Given the description of an element on the screen output the (x, y) to click on. 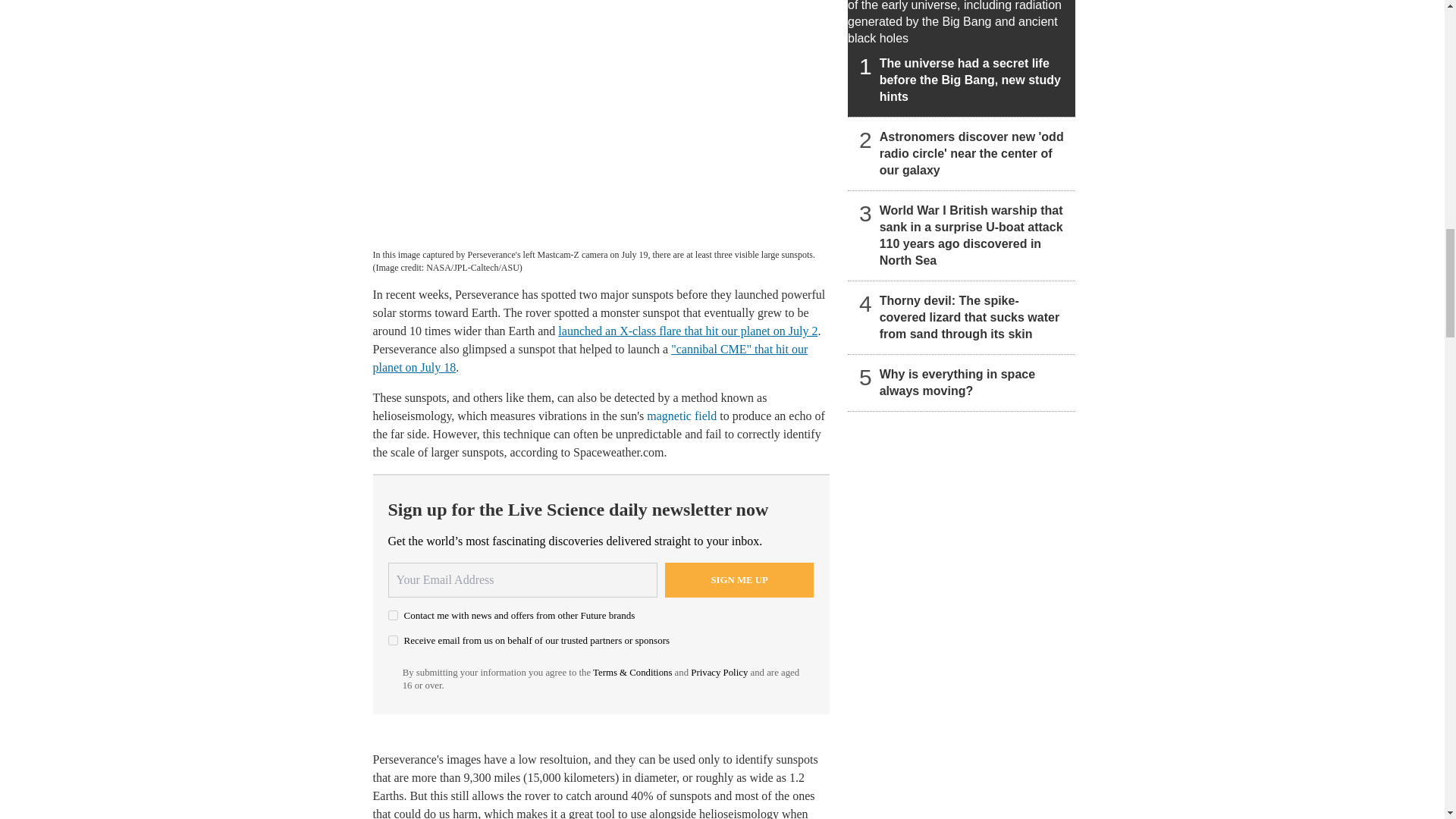
on (392, 640)
on (392, 614)
Sign me up (739, 579)
